Given the description of an element on the screen output the (x, y) to click on. 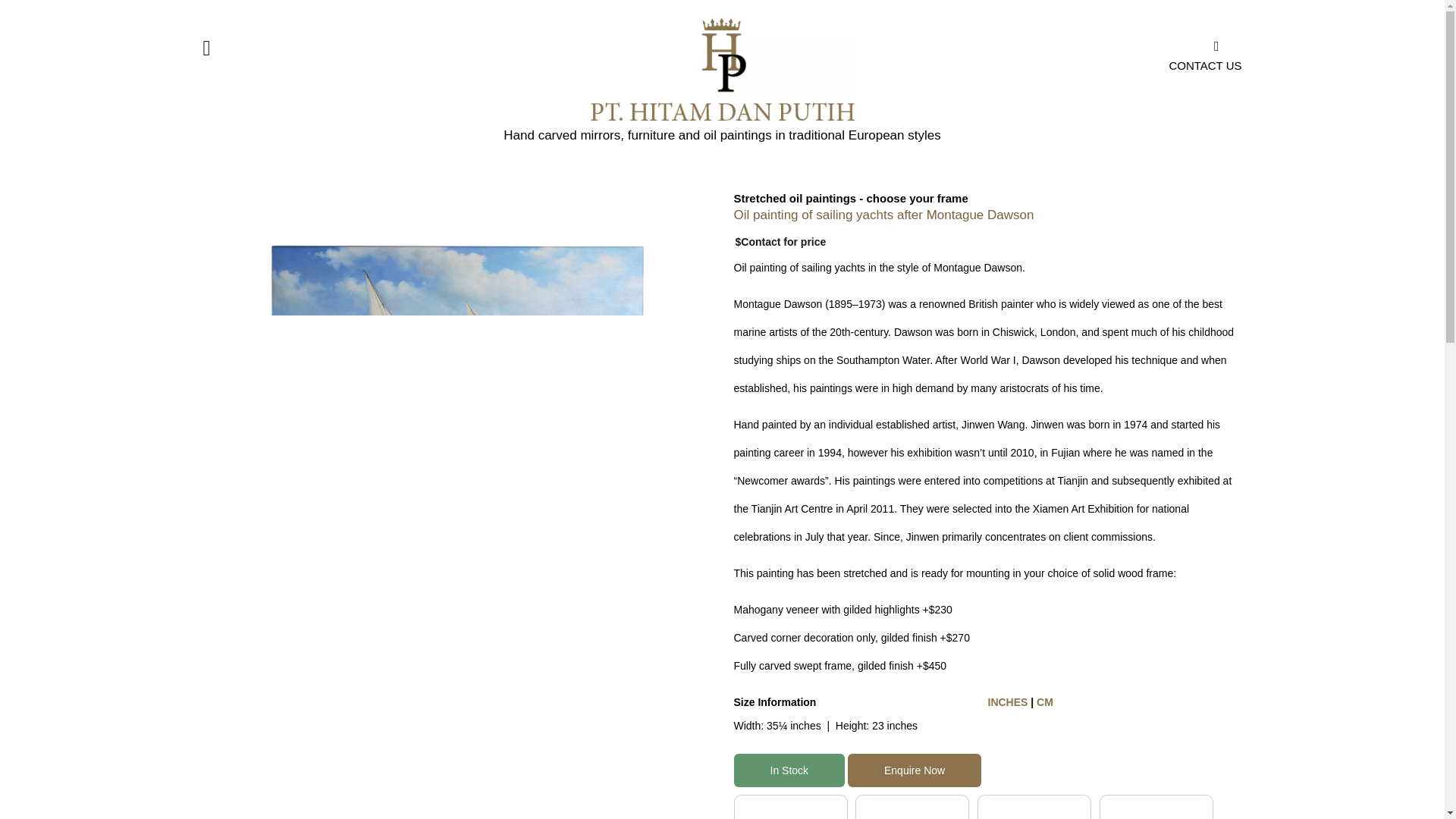
Enquire Now (914, 770)
Set Sizes to Inches (1007, 702)
In Stock (789, 770)
Enquire Now (914, 770)
CONTACT US (1119, 56)
Set Sizes to CM (1044, 702)
In Stock (789, 770)
INCHES (1007, 702)
CM (1044, 702)
Enquire Now (914, 770)
Stretched oil paintings - choose your frame (850, 197)
